Given the description of an element on the screen output the (x, y) to click on. 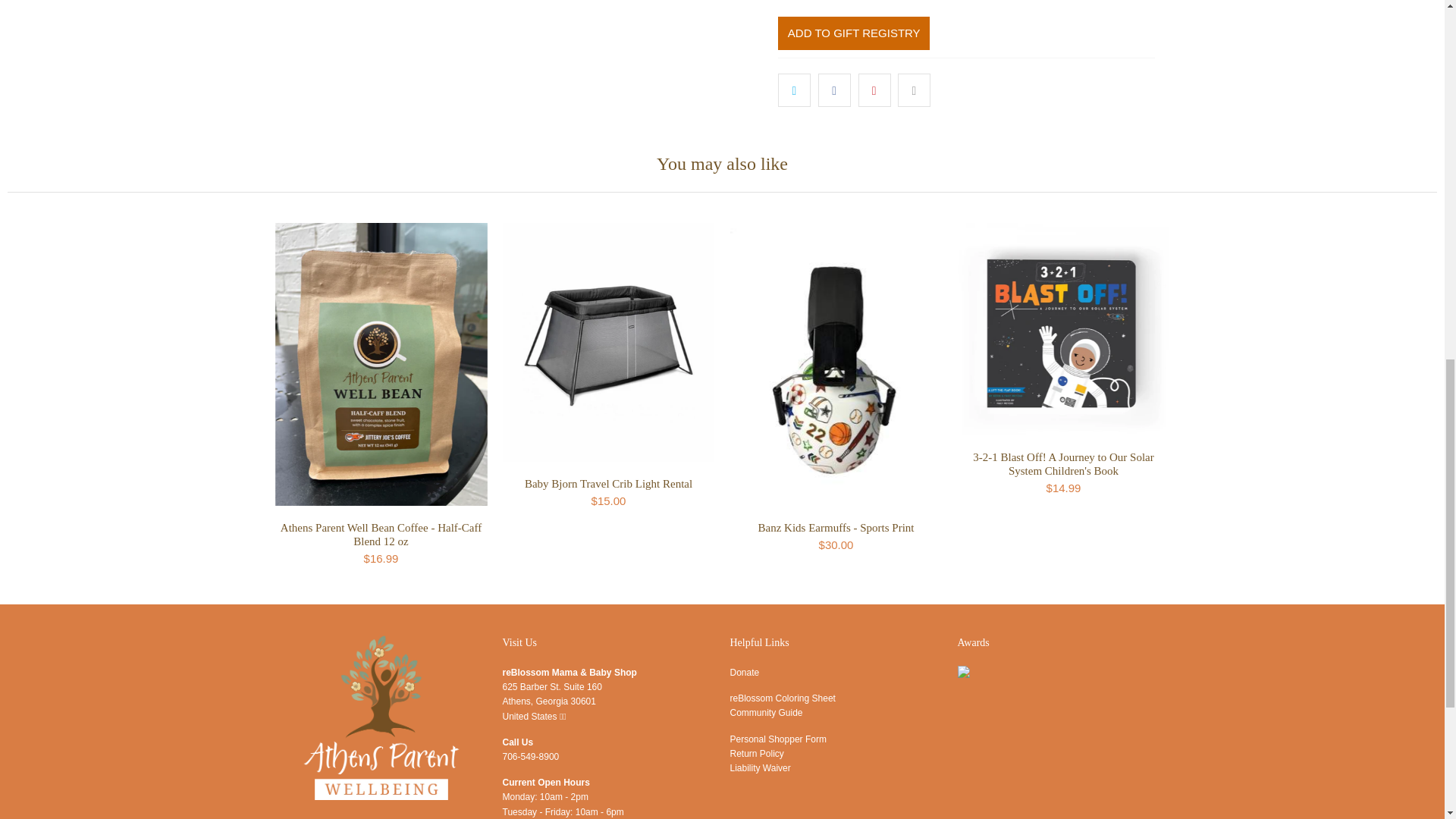
Liability Waiver (759, 767)
Return Policy (756, 753)
Share this on Pinterest (875, 90)
Share this on Facebook (834, 90)
Personal Shopper (777, 738)
Email this to a friend (914, 90)
Share this on Twitter (793, 90)
